Given the description of an element on the screen output the (x, y) to click on. 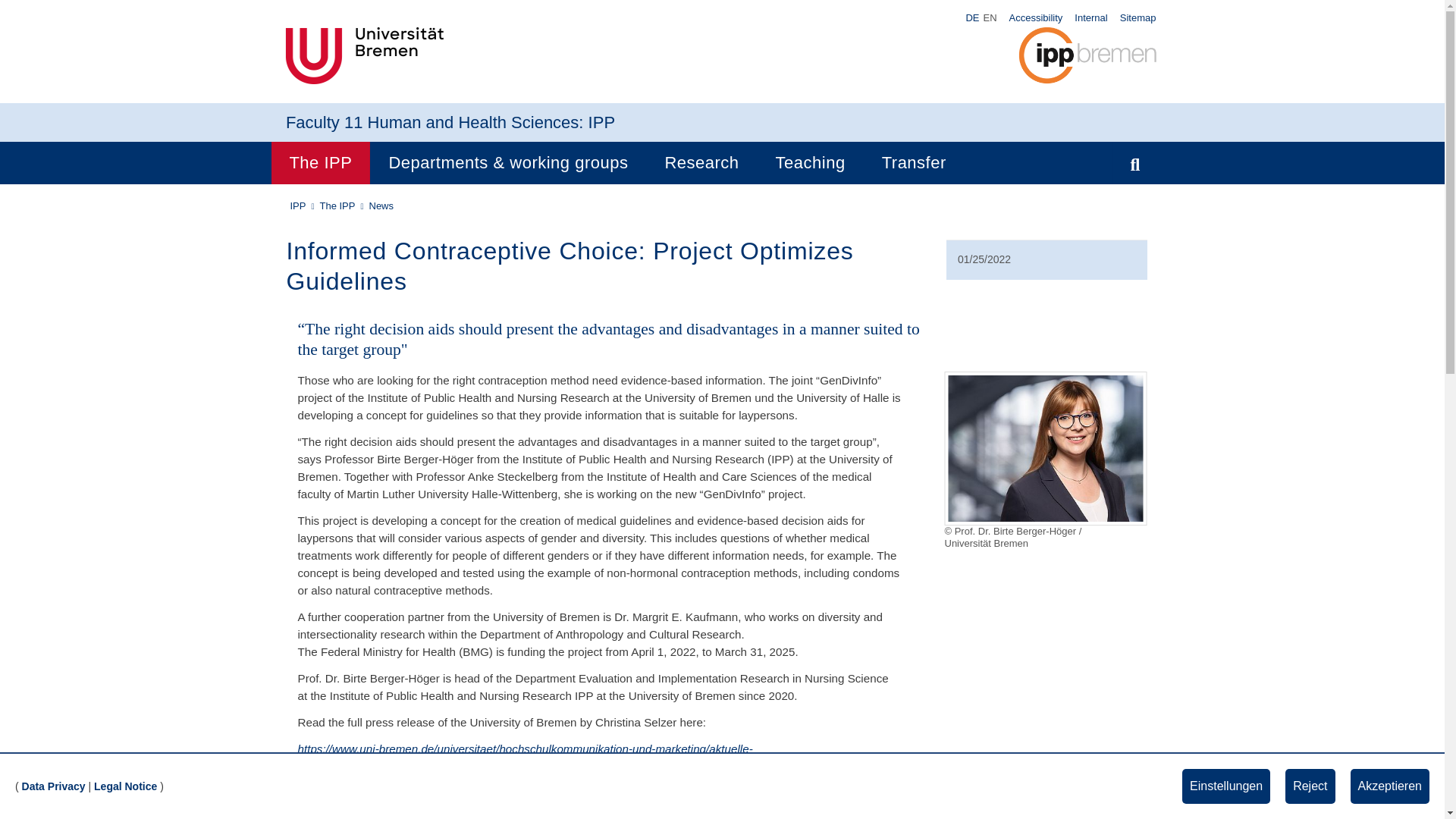
The IPP (319, 162)
Accessibility (1035, 16)
Internal (1090, 16)
Research (701, 162)
IPP (601, 122)
Faculty 11 Human and Health Sciences (431, 122)
Teaching (810, 162)
Scroll to the bottom of the page (1411, 786)
DE (971, 17)
Transfer (913, 162)
